Given the description of an element on the screen output the (x, y) to click on. 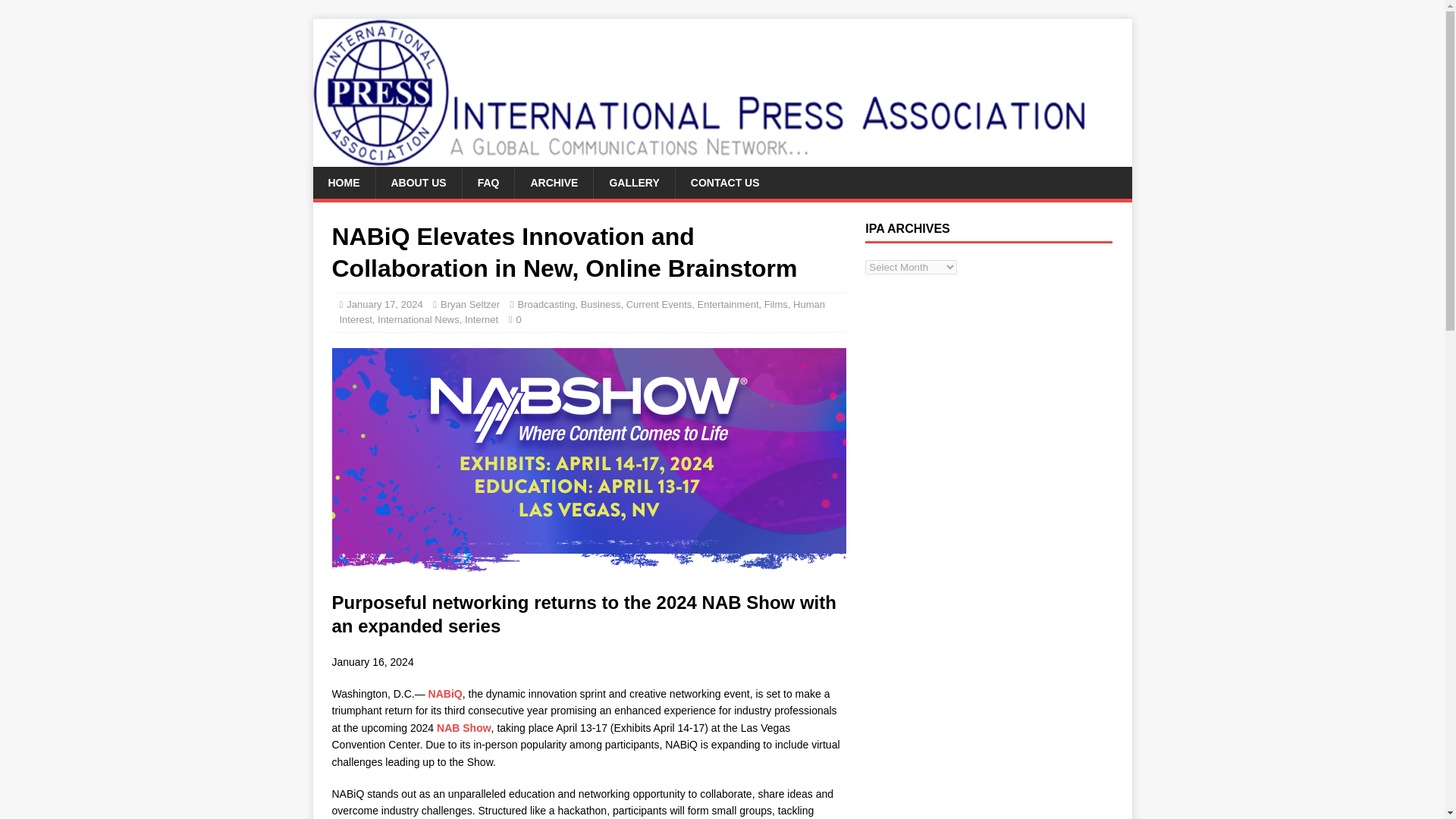
FAQ (488, 183)
Films (775, 304)
ARCHIVE (552, 183)
Human Interest (582, 311)
NAB-2024 (588, 461)
Bryan Seltzer (470, 304)
Business (600, 304)
NABiQ (445, 693)
CONTACT US (724, 183)
GALLERY (633, 183)
